Given the description of an element on the screen output the (x, y) to click on. 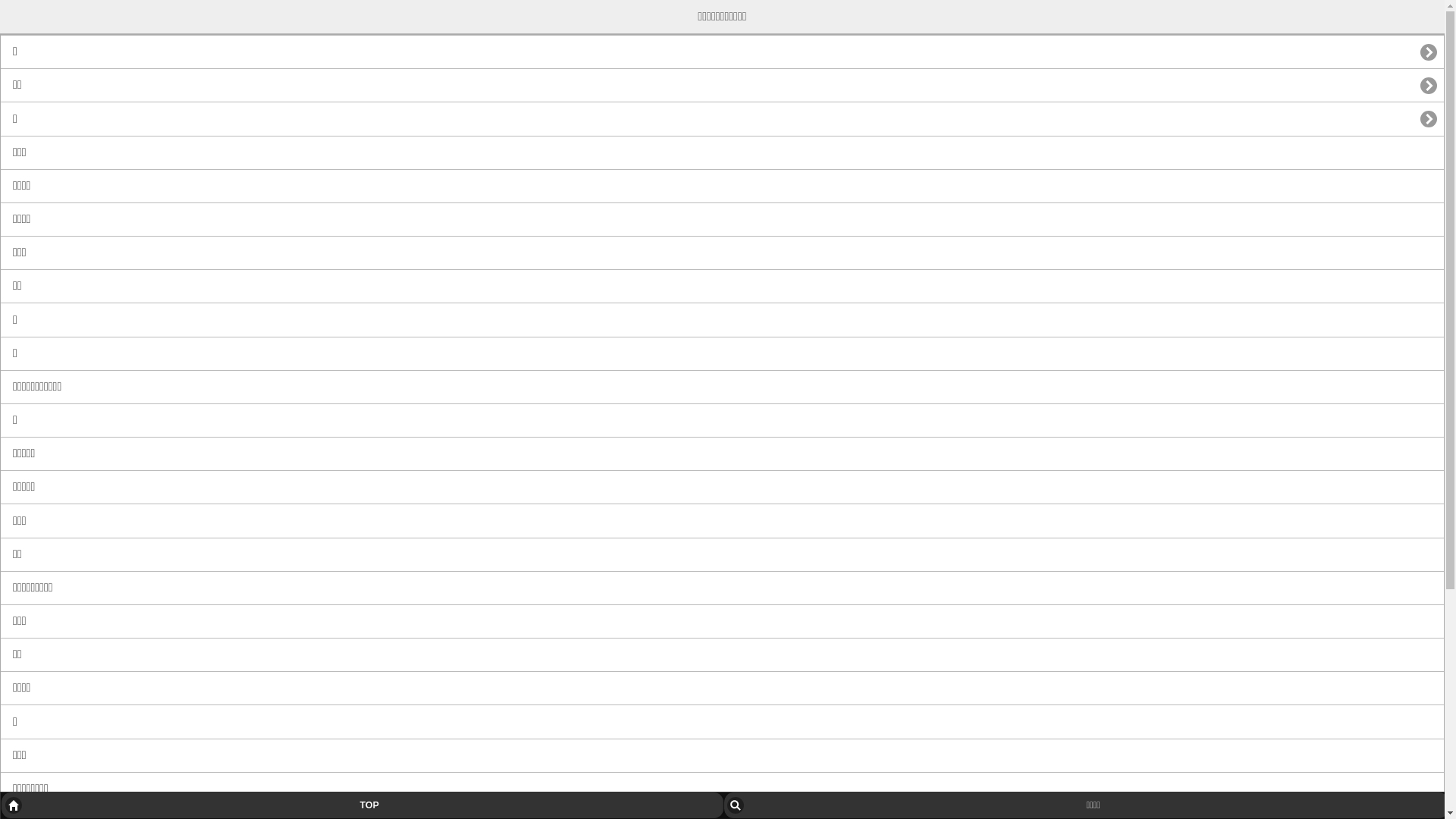
TOP Element type: text (361, 805)
